Given the description of an element on the screen output the (x, y) to click on. 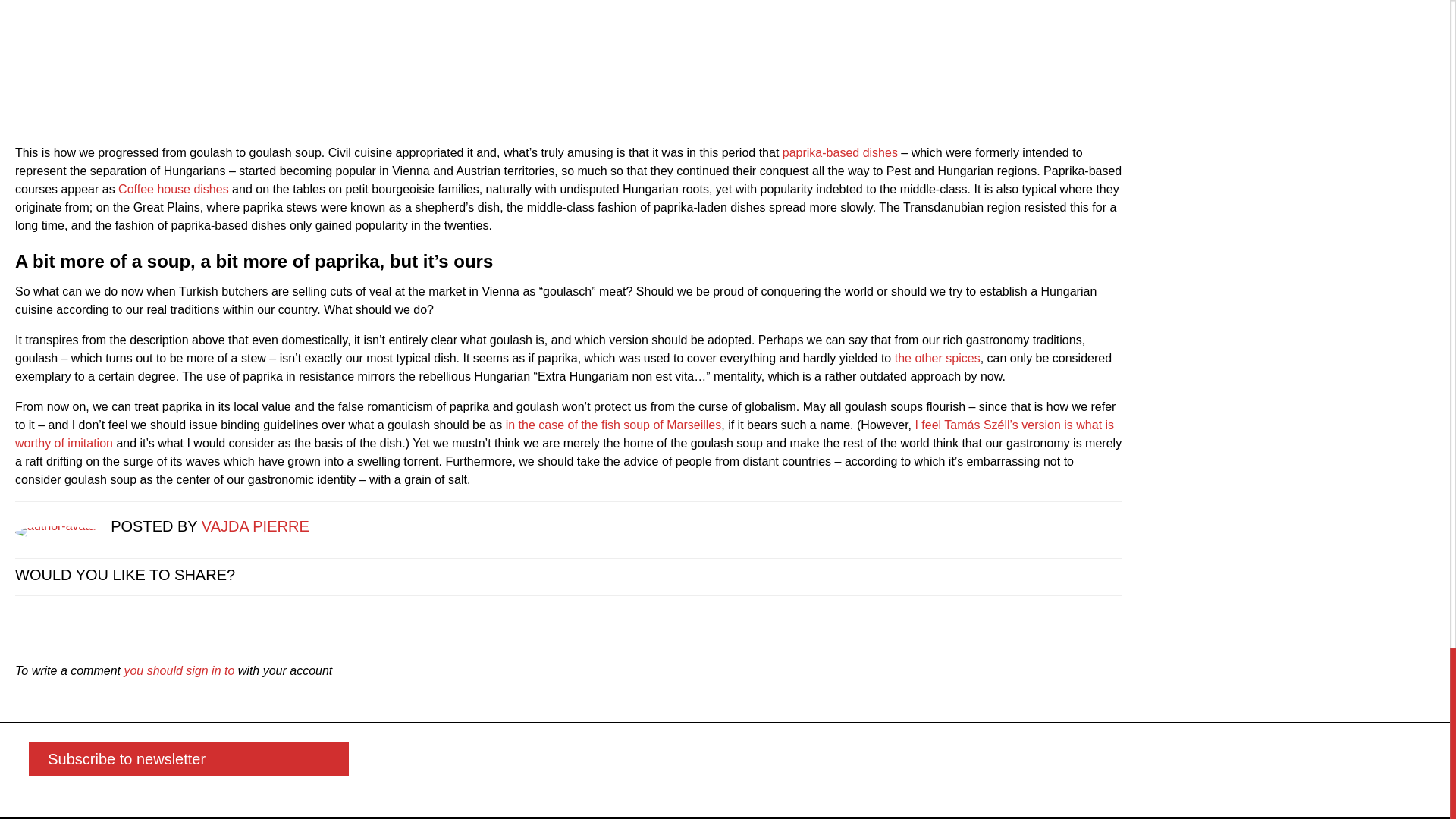
Posted byVajda Pierre  (255, 525)
Posted byVajda Pierre  (62, 525)
